Given the description of an element on the screen output the (x, y) to click on. 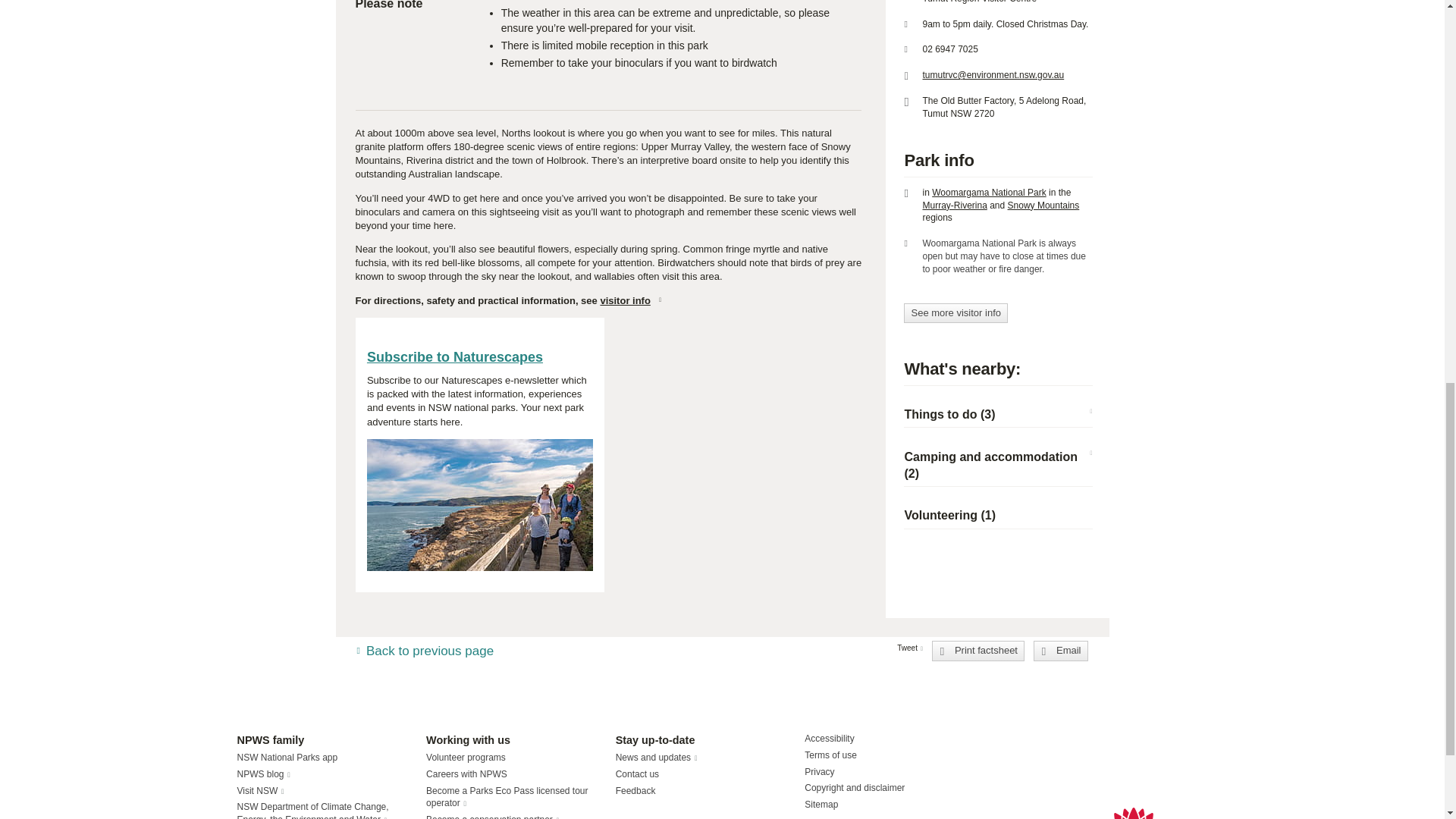
See more things to do nearby (949, 413)
See more camping and accommodation nearby (990, 464)
Print-friendly version of these webpages (978, 650)
New South Wales Government (1133, 813)
See more volunteering nearby (949, 514)
